Given the description of an element on the screen output the (x, y) to click on. 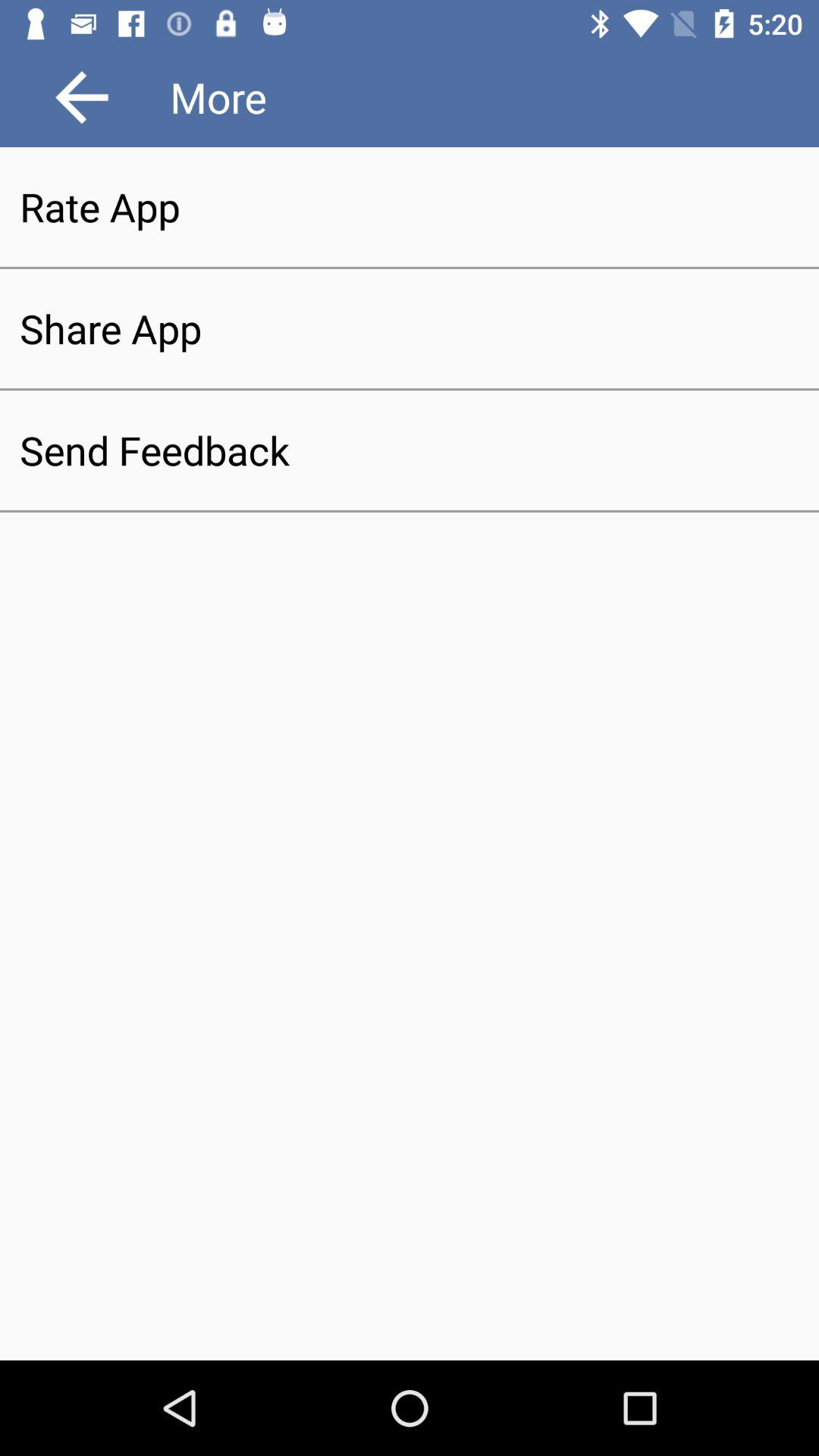
swipe until the rate app (409, 206)
